Given the description of an element on the screen output the (x, y) to click on. 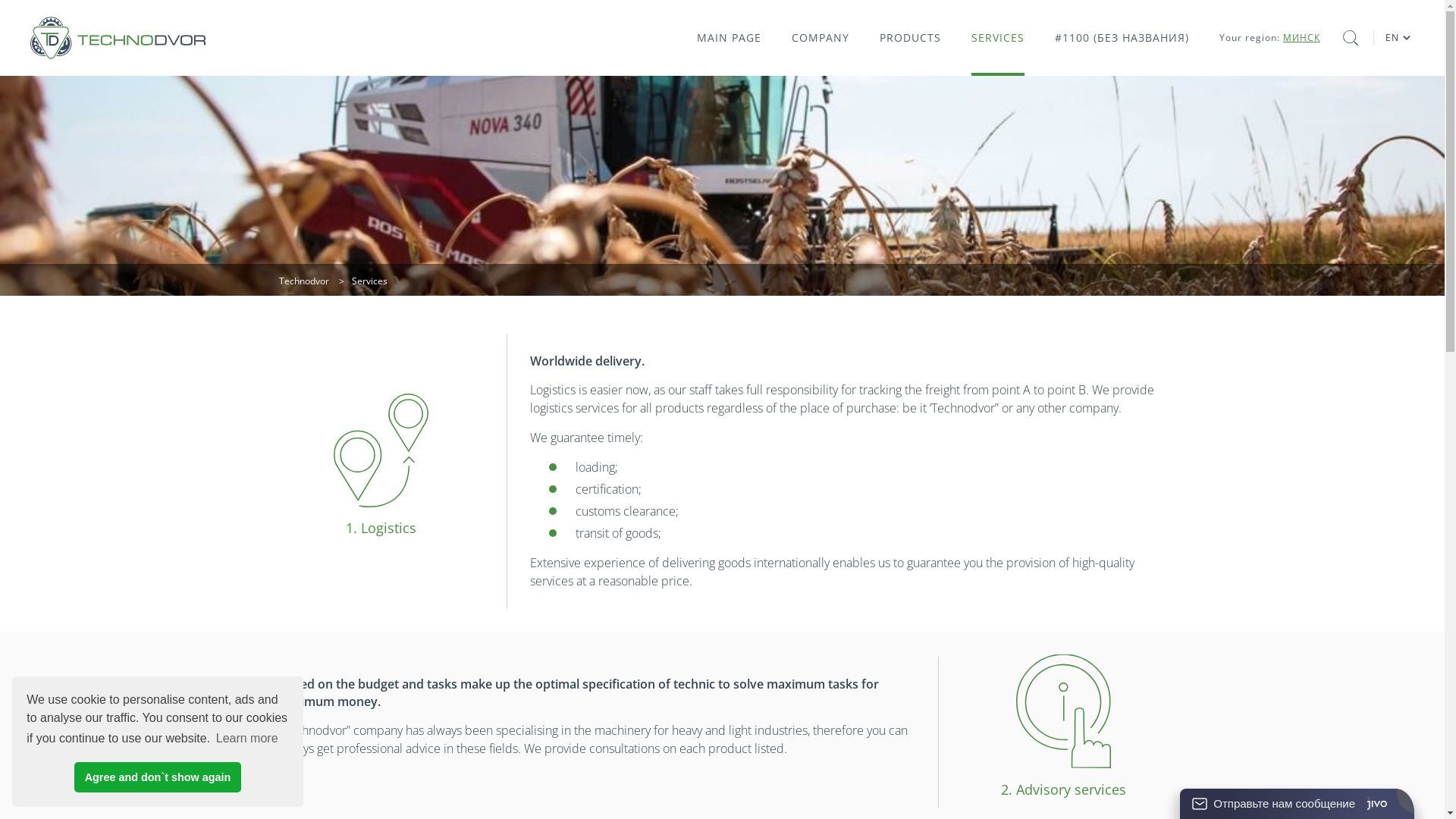
PRODUCTS Element type: text (910, 37)
Technodvor Element type: text (304, 280)
Agree and don`t show again Element type: text (157, 777)
SERVICES Element type: text (997, 37)
MAIN PAGE Element type: text (728, 37)
COMPANY Element type: text (820, 37)
Learn more Element type: text (246, 738)
